Given the description of an element on the screen output the (x, y) to click on. 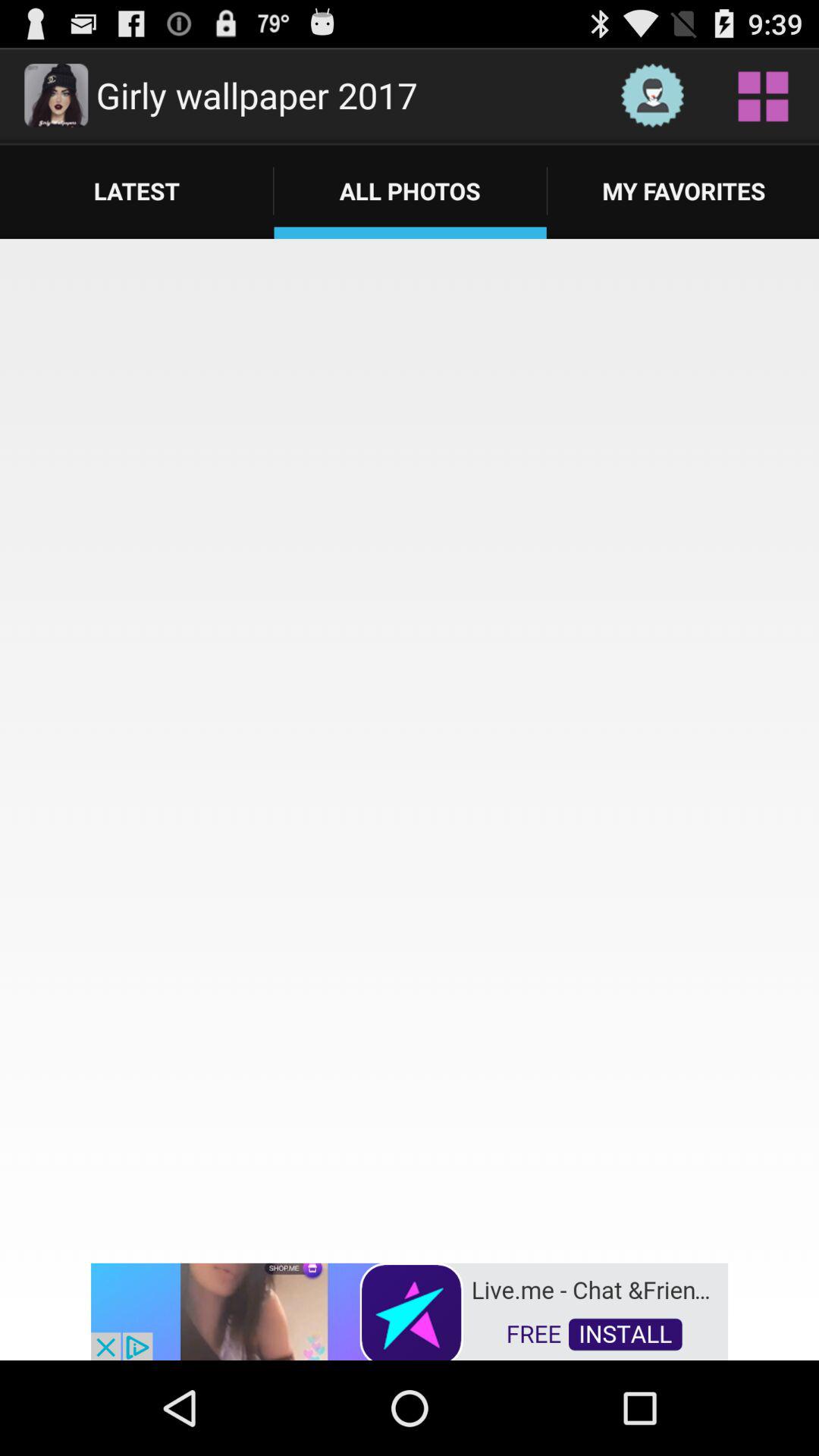
click blank (409, 749)
